Given the description of an element on the screen output the (x, y) to click on. 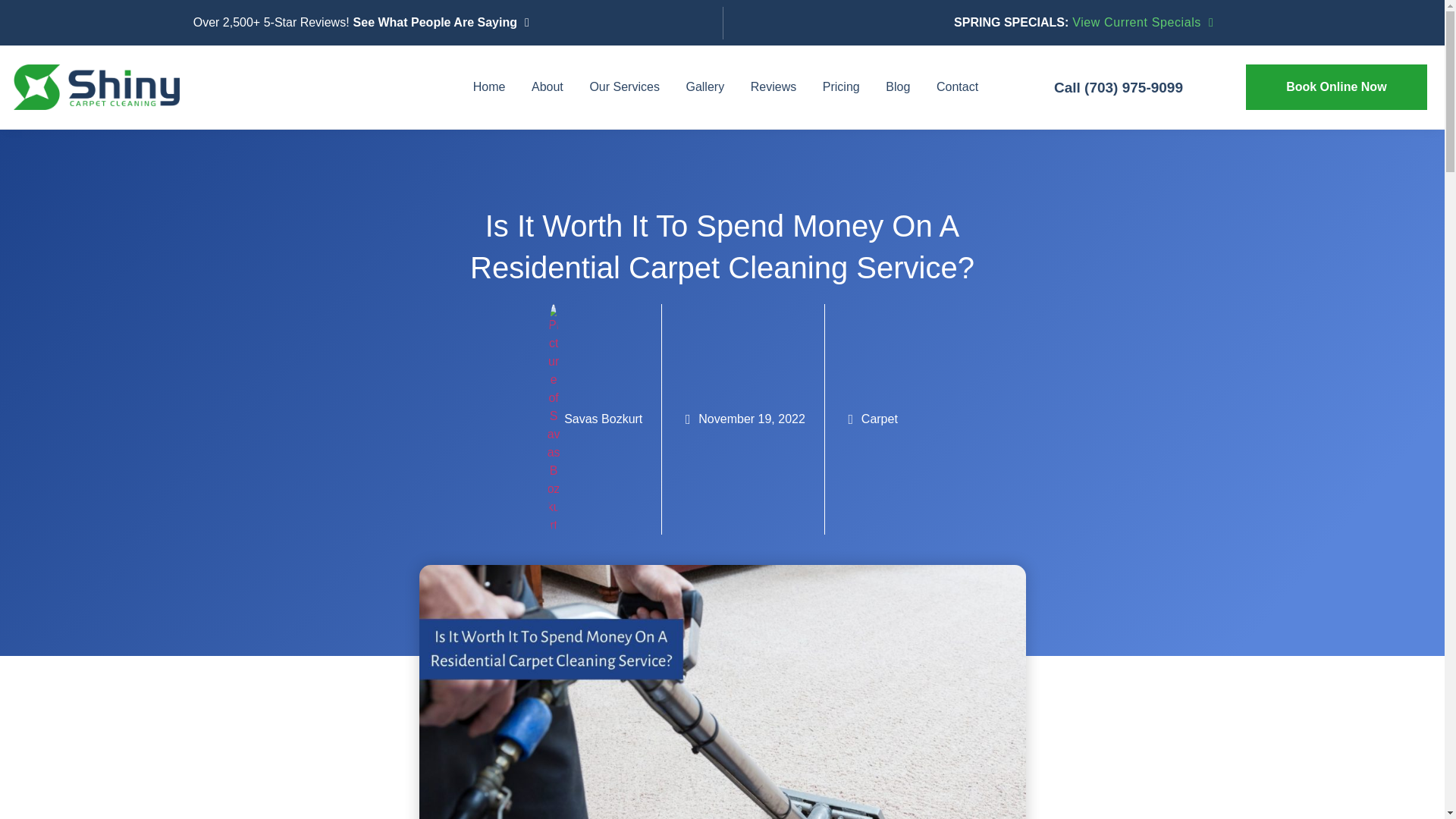
View Current Specials (1140, 22)
About (546, 87)
Blog (898, 87)
Our Services (624, 87)
Contact (957, 87)
Reviews (773, 87)
Gallery (704, 87)
See What People Are Saying (439, 22)
Book Online Now (1336, 86)
Pricing (840, 87)
